Given the description of an element on the screen output the (x, y) to click on. 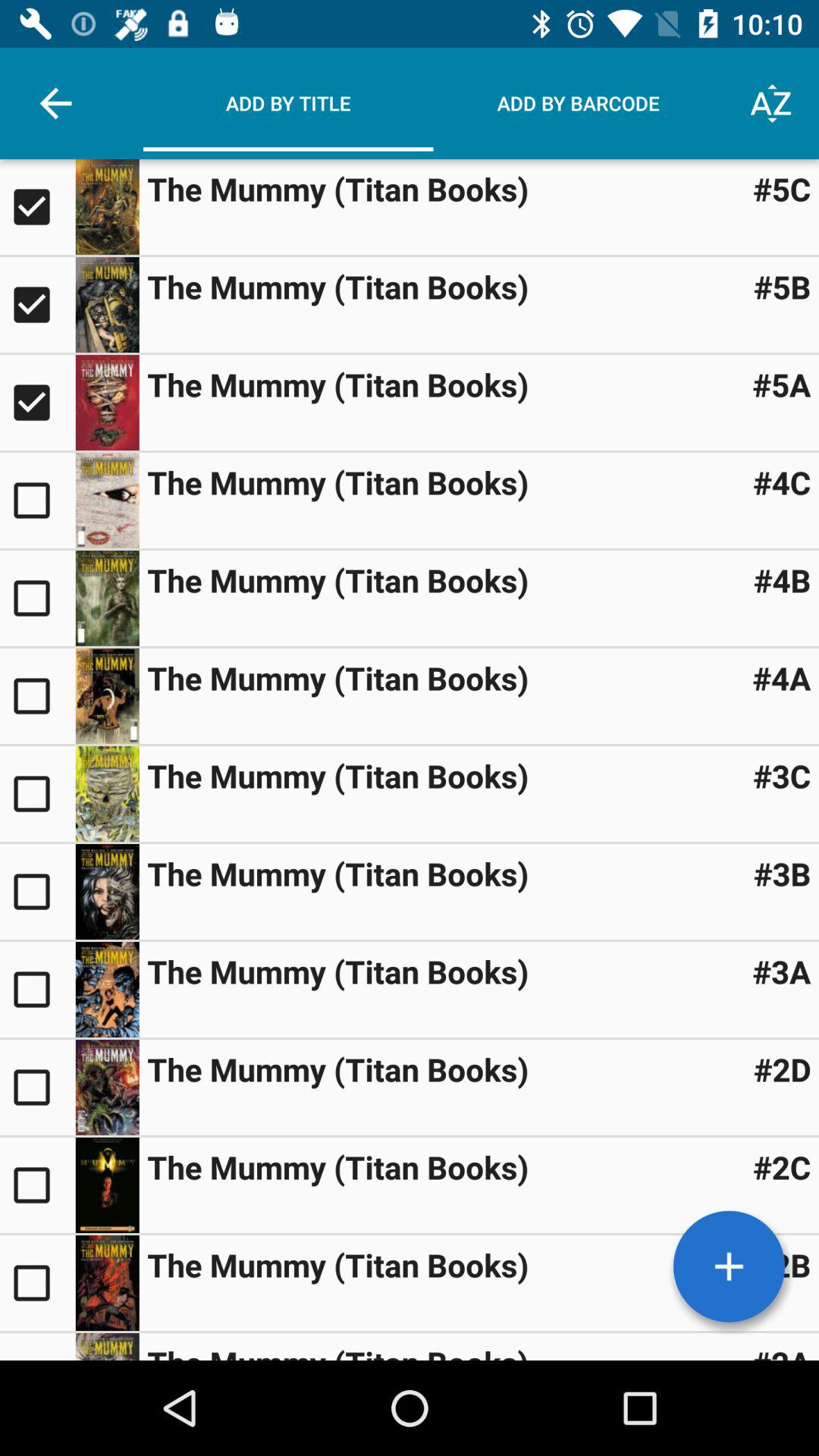
open this book info page (107, 891)
